Given the description of an element on the screen output the (x, y) to click on. 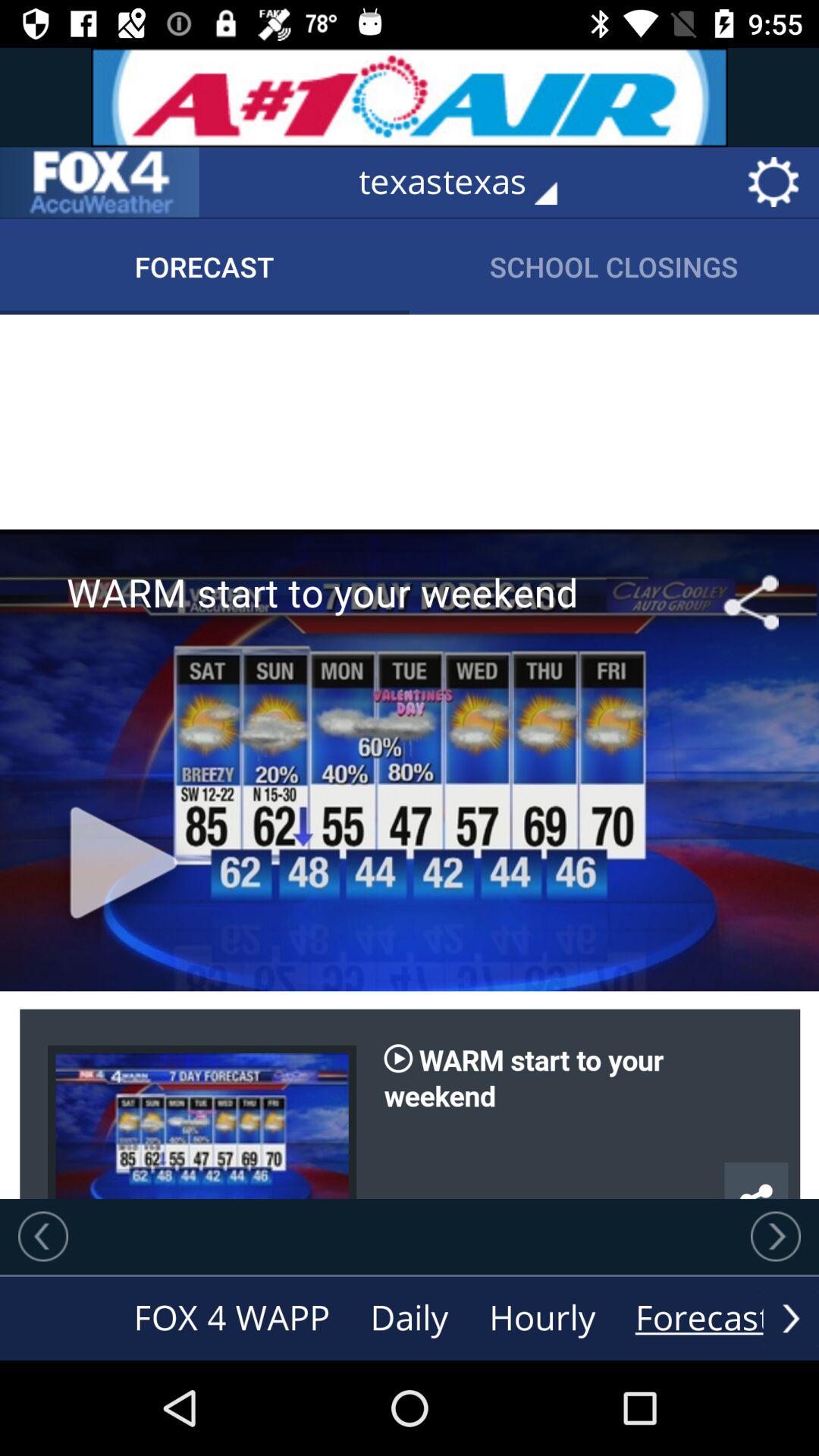
go back (43, 1236)
